Given the description of an element on the screen output the (x, y) to click on. 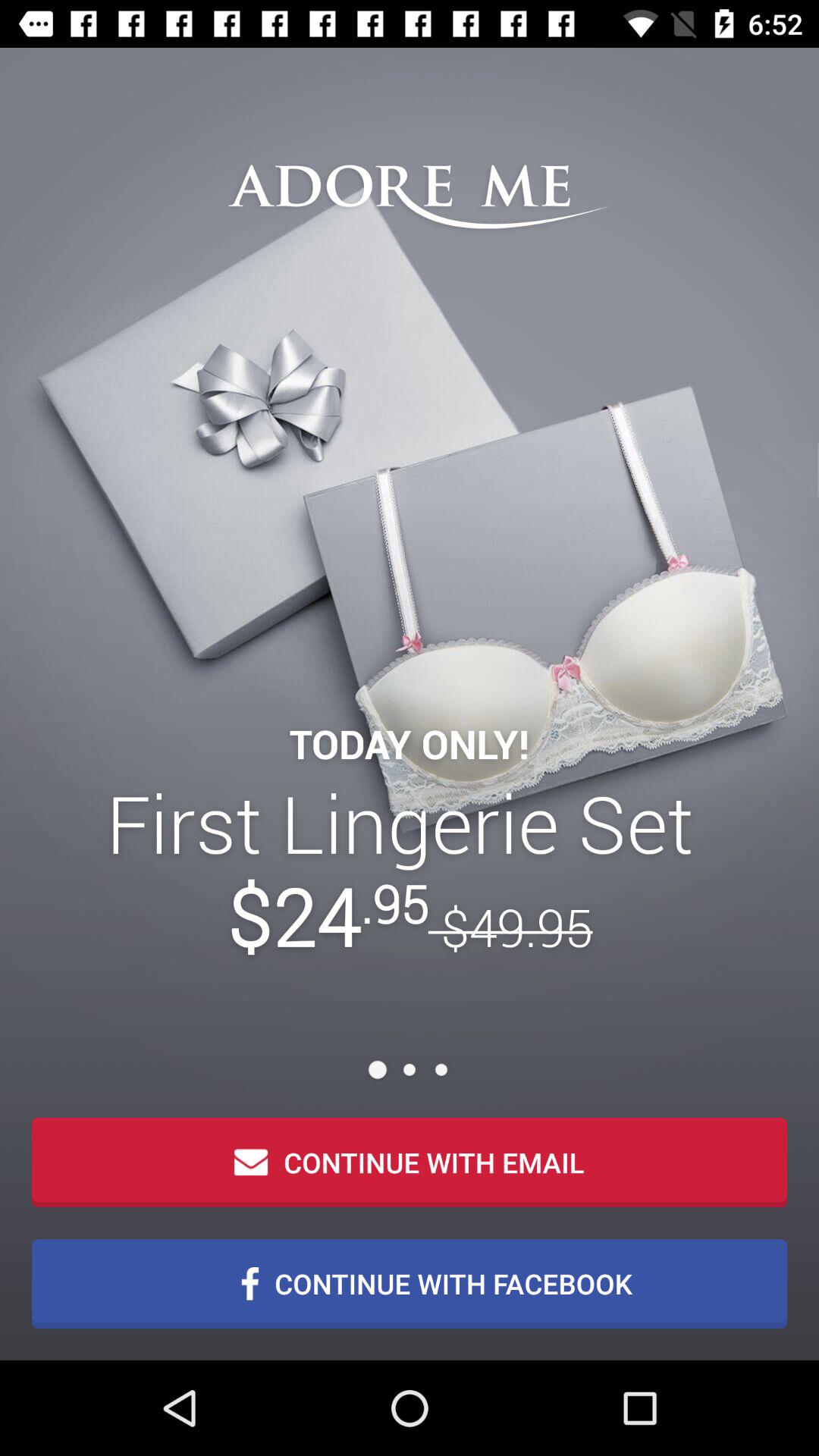
scroll until the first lingerie set item (409, 869)
